Given the description of an element on the screen output the (x, y) to click on. 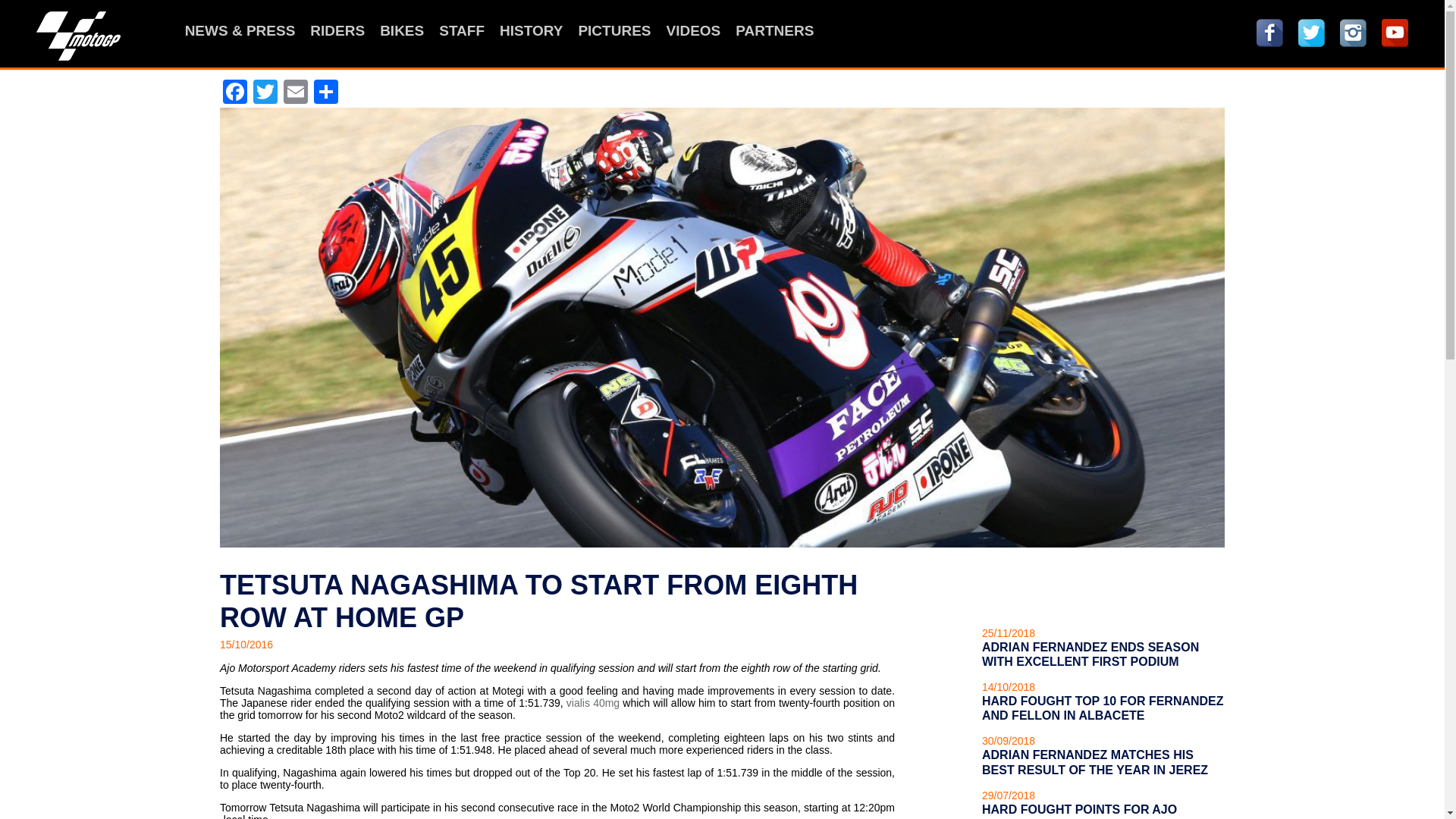
Email (296, 93)
STAFF (461, 30)
Facebook (234, 93)
Email (296, 93)
RIDERS (337, 30)
Facebook (1269, 32)
Twitter (265, 93)
BIKES (401, 30)
Facebook (234, 93)
vialis 40mg (593, 702)
Twitter (265, 93)
VIDEOS (692, 30)
HISTORY (530, 30)
Ajo Motorsport (78, 35)
PICTURES (614, 30)
